Given the description of an element on the screen output the (x, y) to click on. 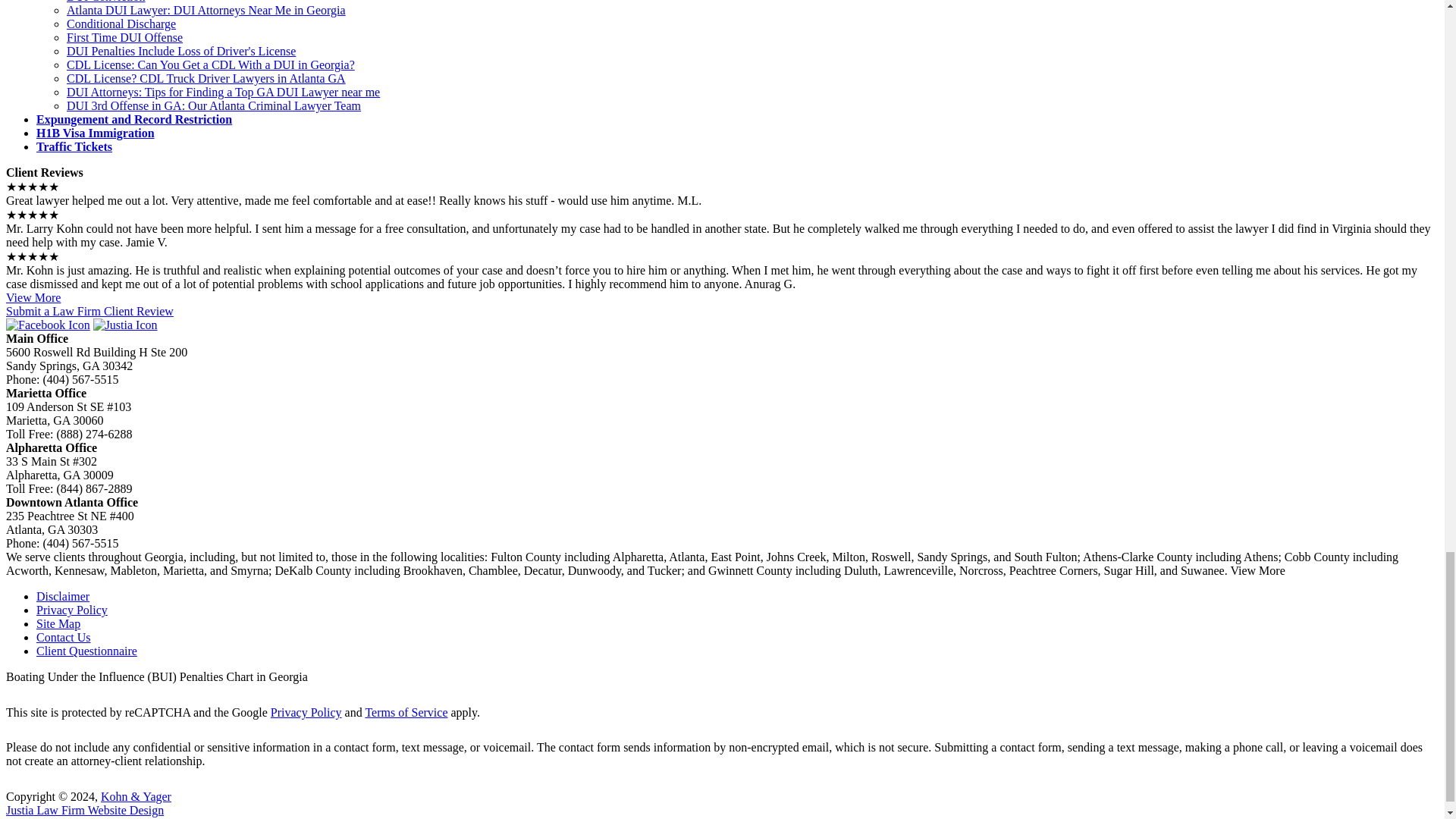
Facebook (47, 324)
Justia (125, 324)
